Given the description of an element on the screen output the (x, y) to click on. 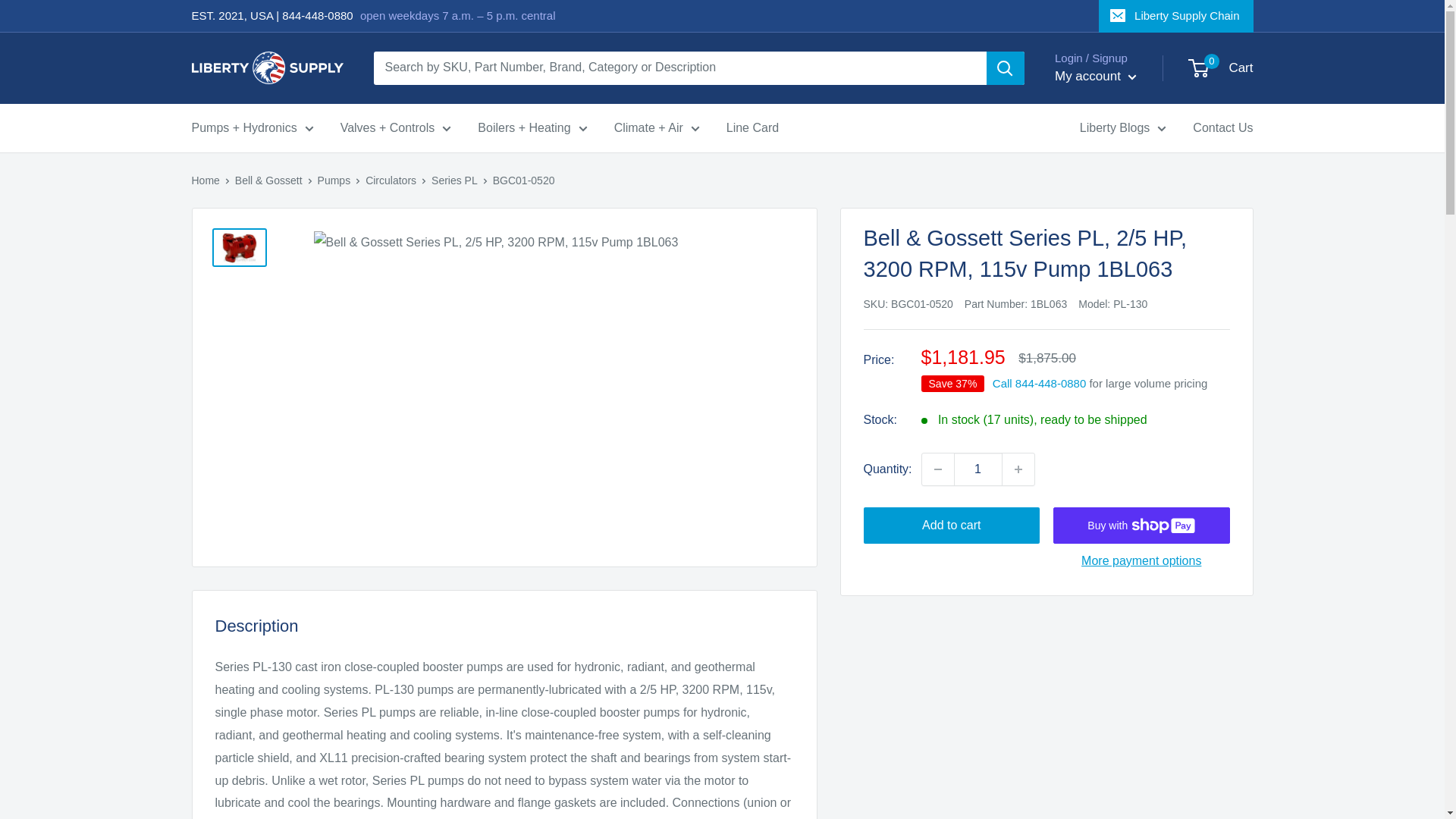
Decrease quantity by 1 (937, 469)
Call Liberty Supply (317, 15)
1 (978, 469)
View our location and hours (457, 15)
844-448-0880 (317, 15)
Liberty Supply (204, 180)
Liberty Supply Chain (1175, 15)
Increase quantity by 1 (1018, 469)
